Given the description of an element on the screen output the (x, y) to click on. 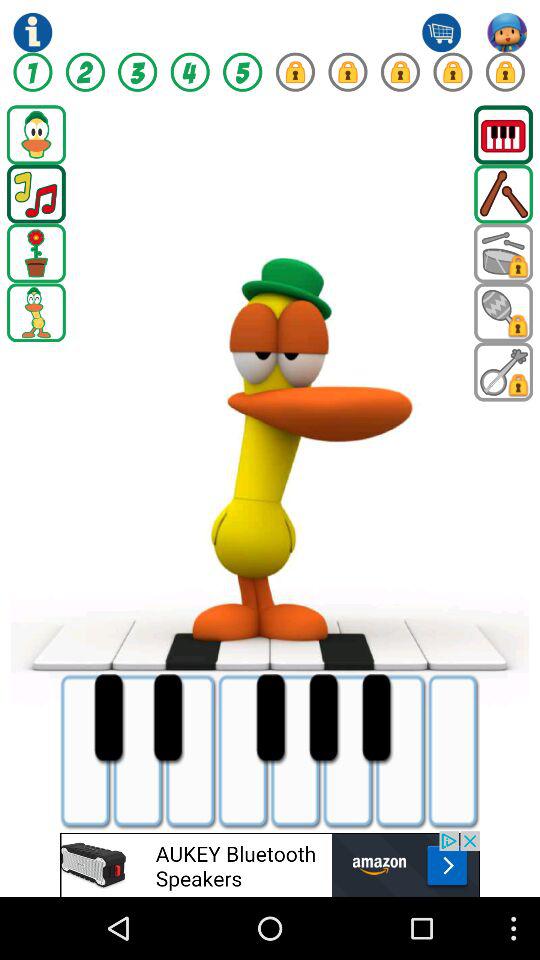
select shaker (503, 312)
